Given the description of an element on the screen output the (x, y) to click on. 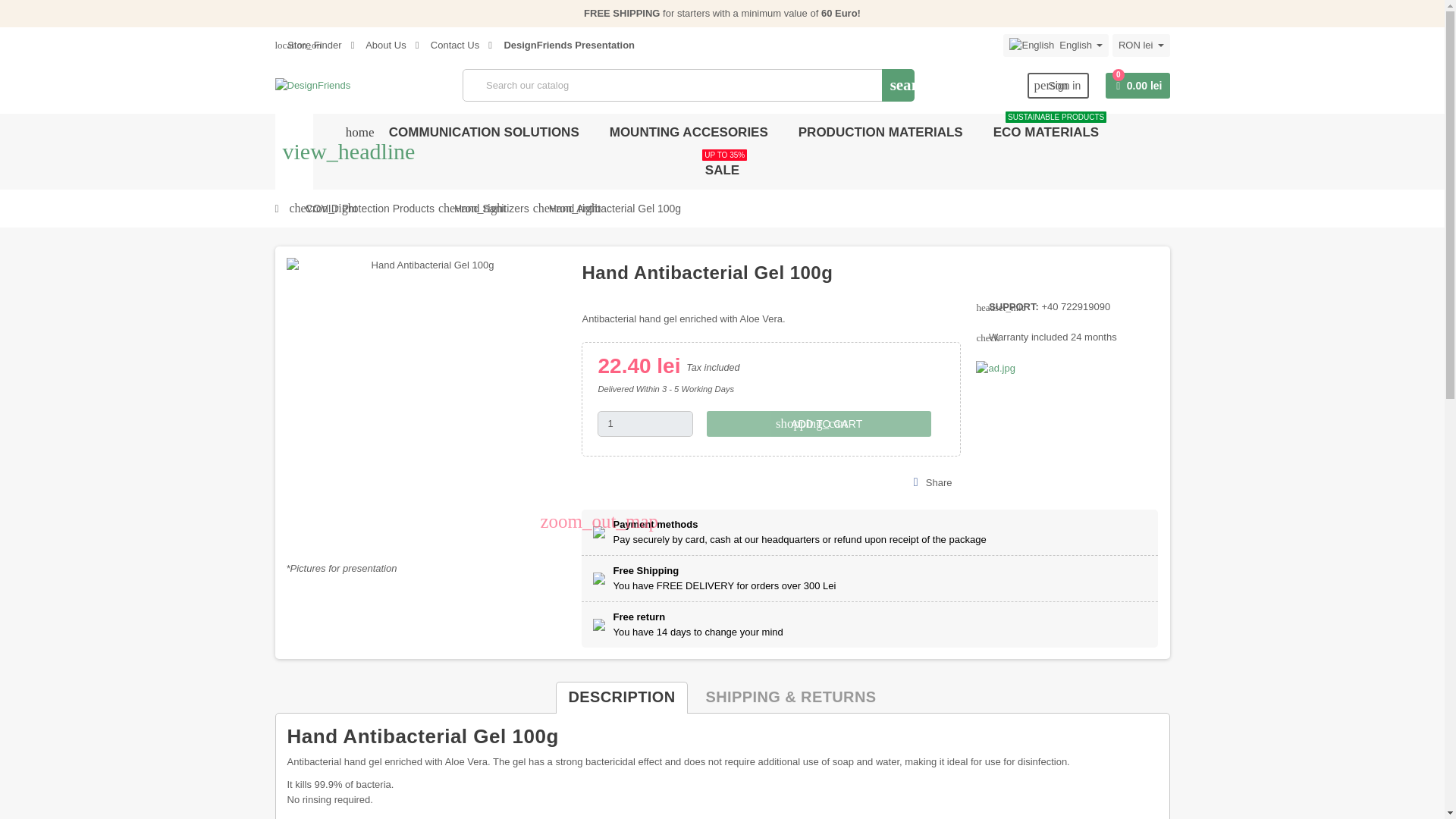
COMMUNICATION SOLUTIONS (484, 132)
 Contact Us (447, 44)
DESCRIPTION (621, 697)
 About Us (378, 44)
MOUNTING ACCESORIES (688, 132)
RON lei (1058, 85)
  English (1141, 45)
Share (1055, 45)
Log in to your customer account (932, 482)
